Given the description of an element on the screen output the (x, y) to click on. 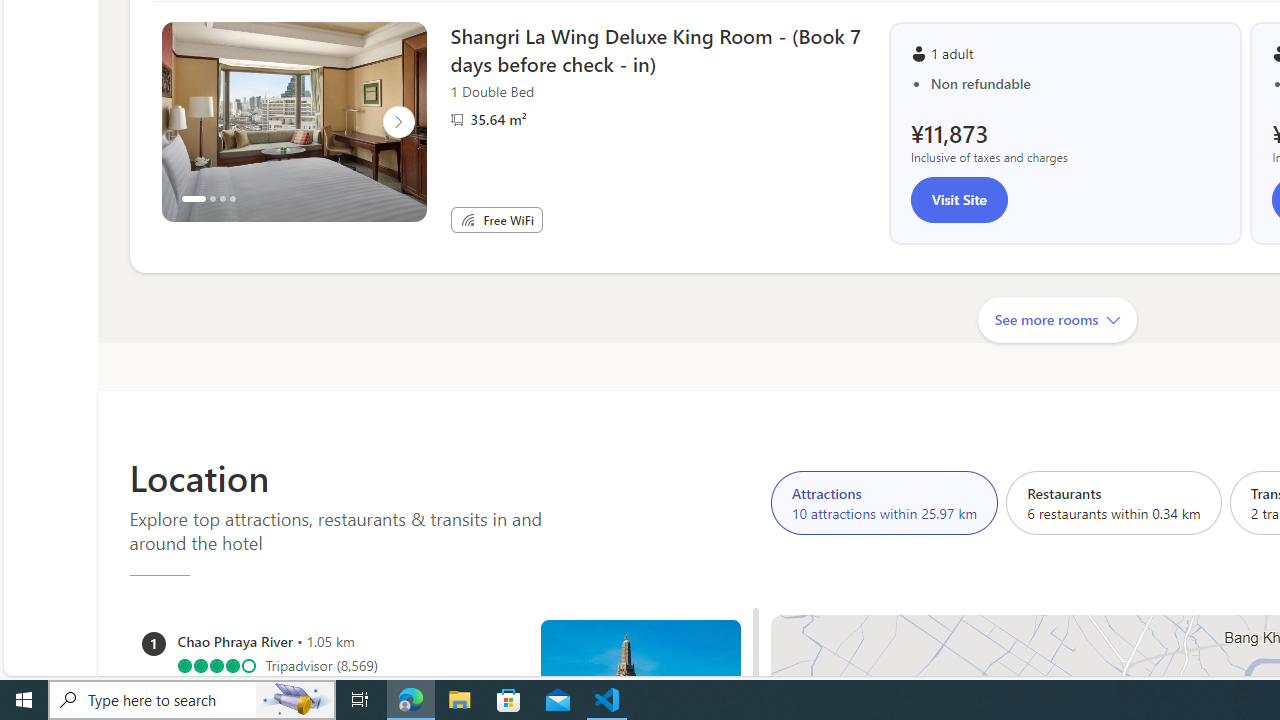
Attractions 10 attractions within 25.97 km (884, 502)
Restaurants 6 restaurants within 0.34 km (1114, 502)
Non refundable (1075, 83)
See more rooms (1056, 319)
Visit Site (959, 200)
Partner Image (456, 119)
Free WiFi (467, 219)
Click to scroll right (397, 121)
